Given the description of an element on the screen output the (x, y) to click on. 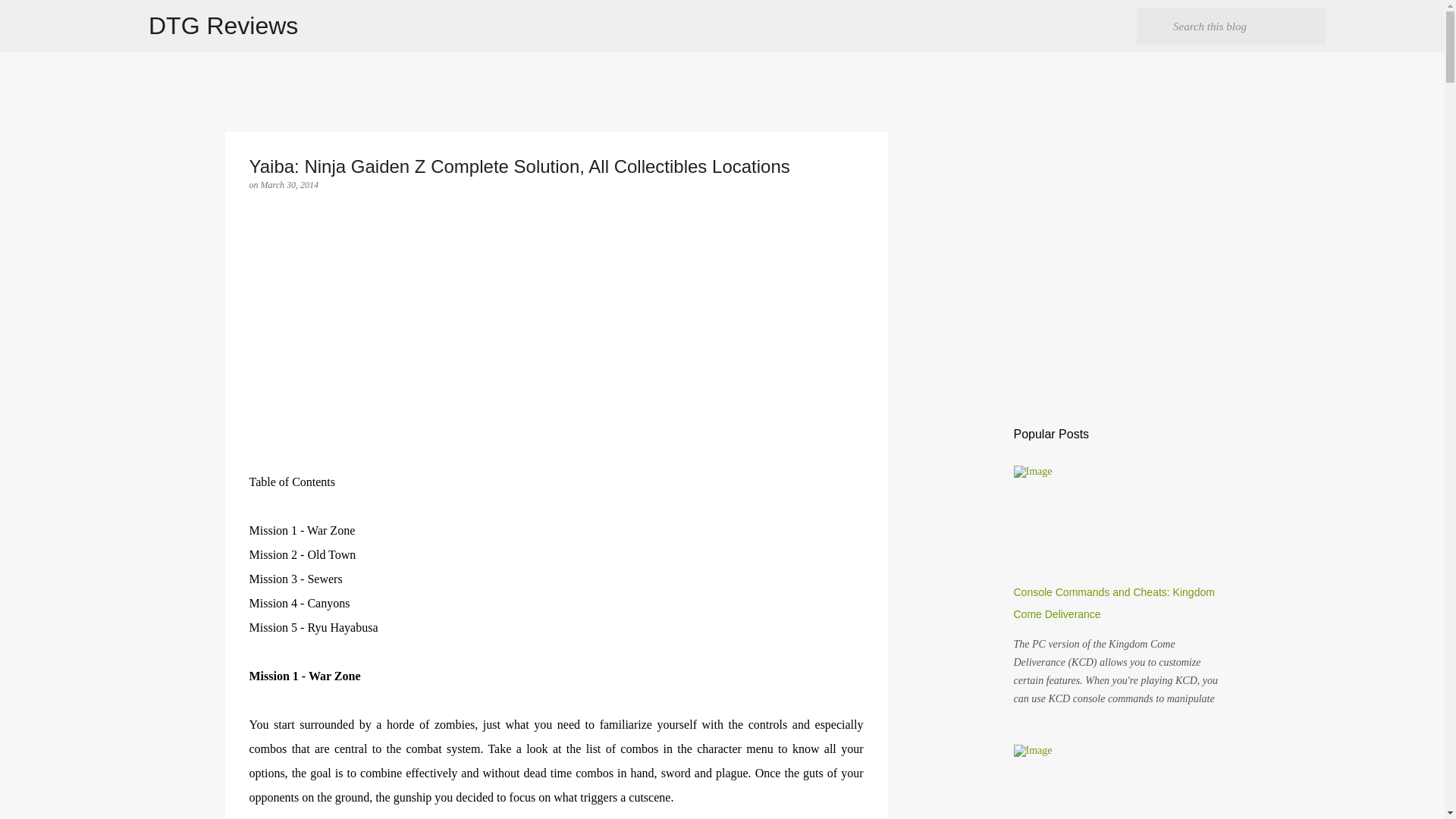
Advertisement (555, 363)
permanent link (289, 184)
DTG Reviews (223, 25)
Console Commands and Cheats: Kingdom Come Deliverance (1113, 602)
March 30, 2014 (289, 184)
